Given the description of an element on the screen output the (x, y) to click on. 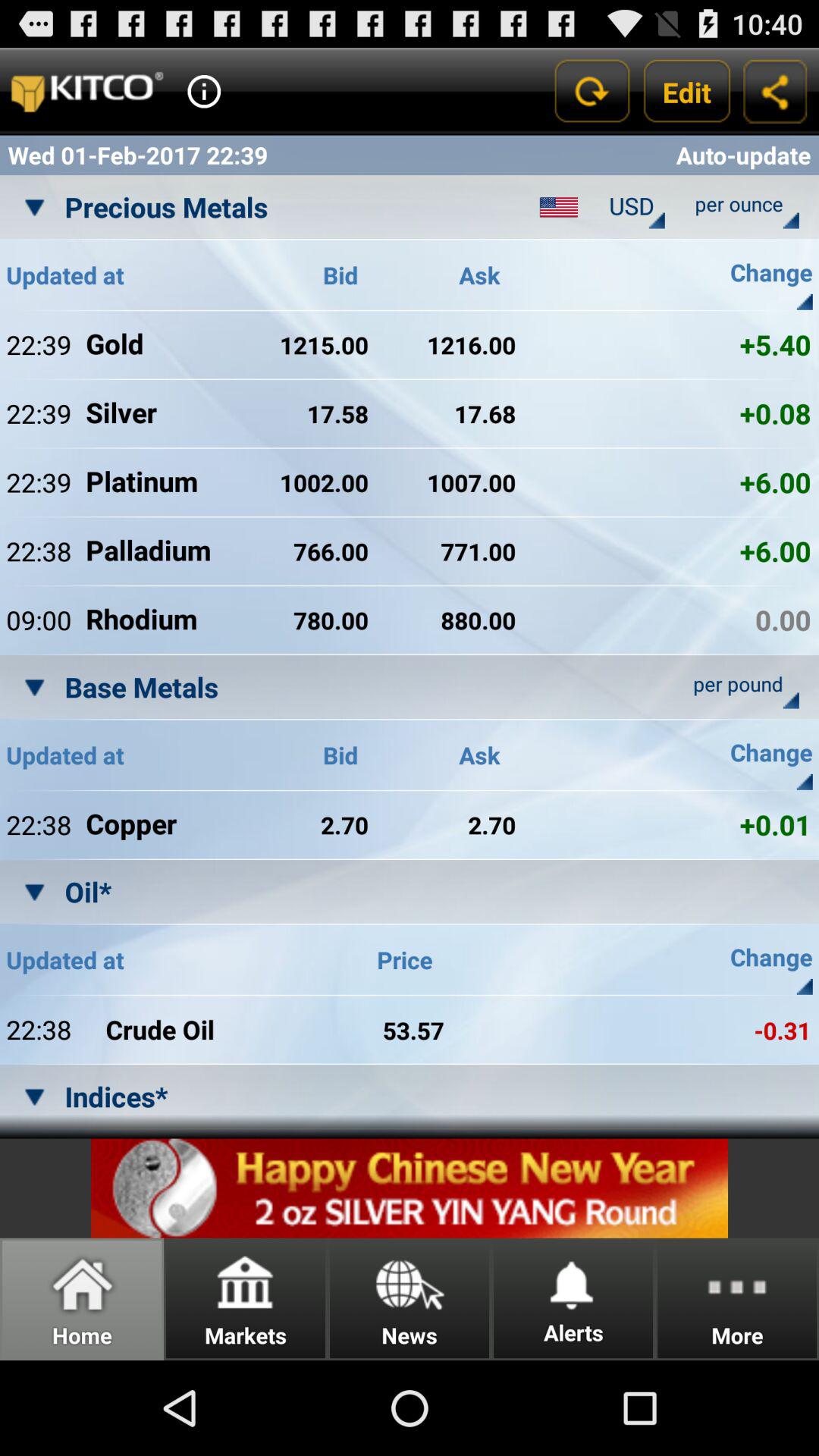
open info option (204, 91)
